Given the description of an element on the screen output the (x, y) to click on. 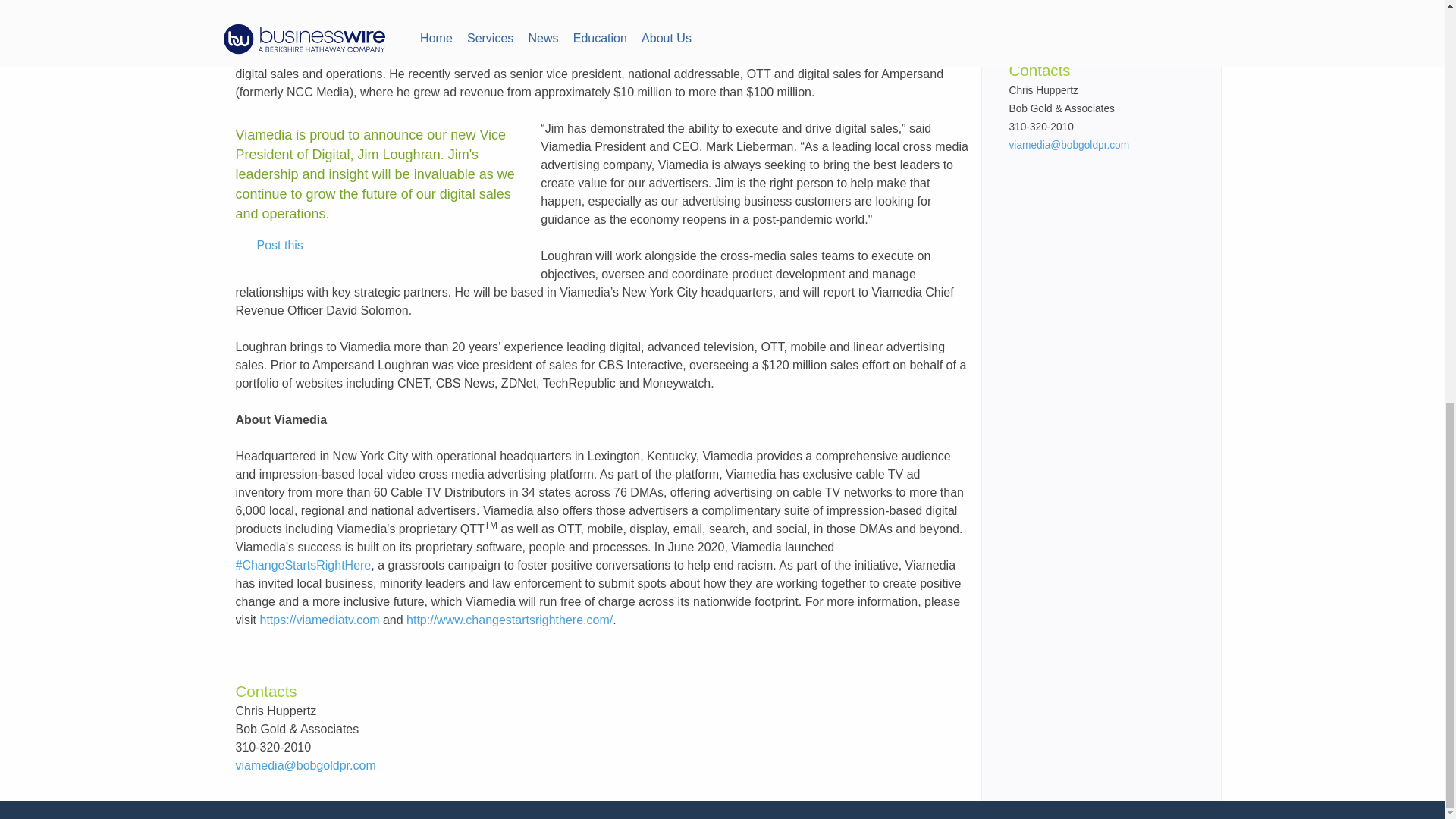
Post this (269, 245)
BUSINESS WIRE (361, 37)
Viamedia (446, 37)
